Given the description of an element on the screen output the (x, y) to click on. 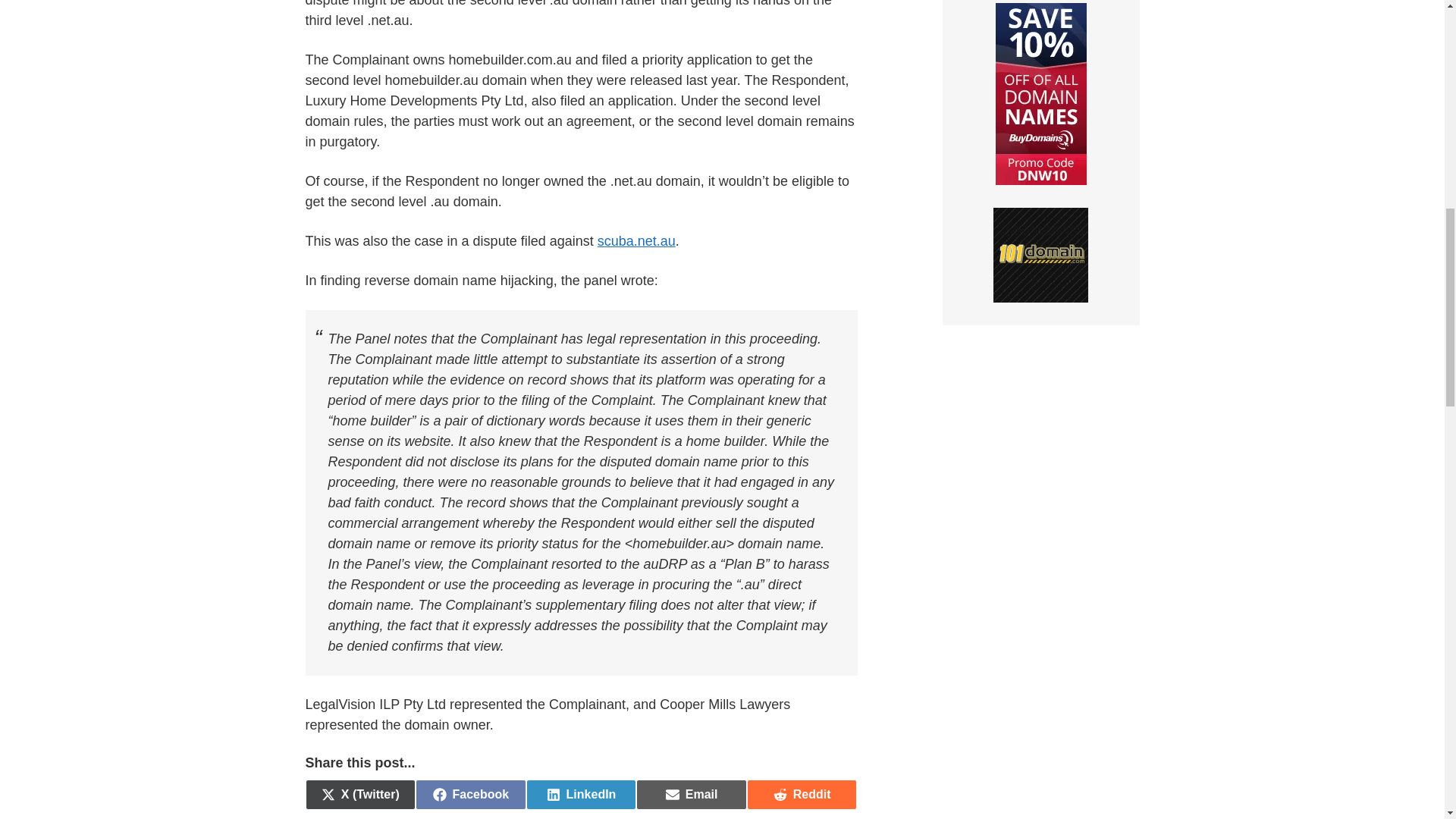
scuba.net.au (469, 794)
